Given the description of an element on the screen output the (x, y) to click on. 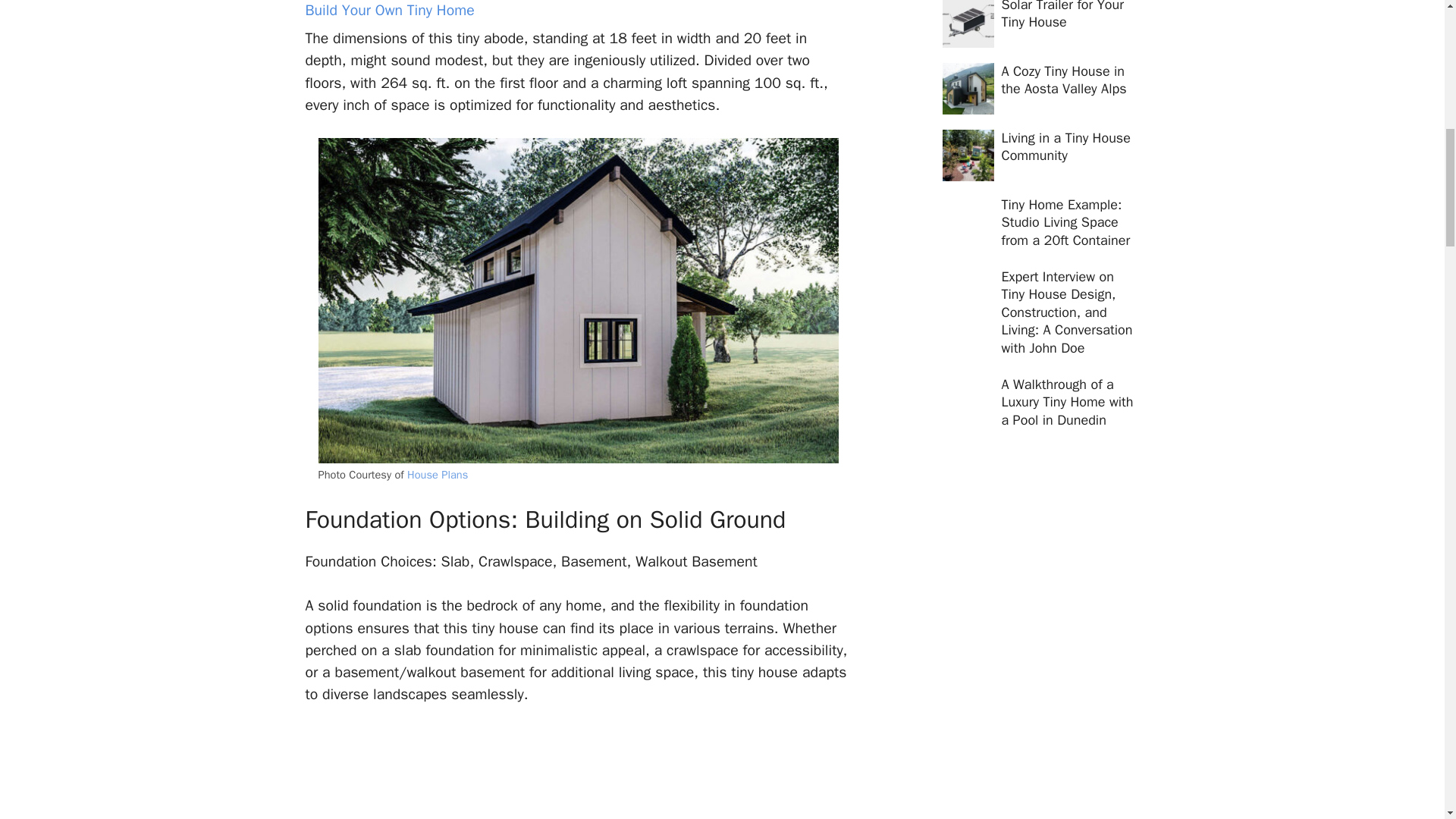
Living in a Tiny House Community (1065, 146)
Tiny Home Example: Studio Living Space from a 20ft Container (1065, 222)
House Plans (437, 474)
Build Your Own Tiny Home (389, 9)
A Cozy Tiny House in the Aosta Valley Alps (1063, 80)
A Walkthrough of a Luxury Tiny Home with a Pool in Dunedin (1066, 401)
Solar Trailer for Your Tiny House (1061, 15)
